Given the description of an element on the screen output the (x, y) to click on. 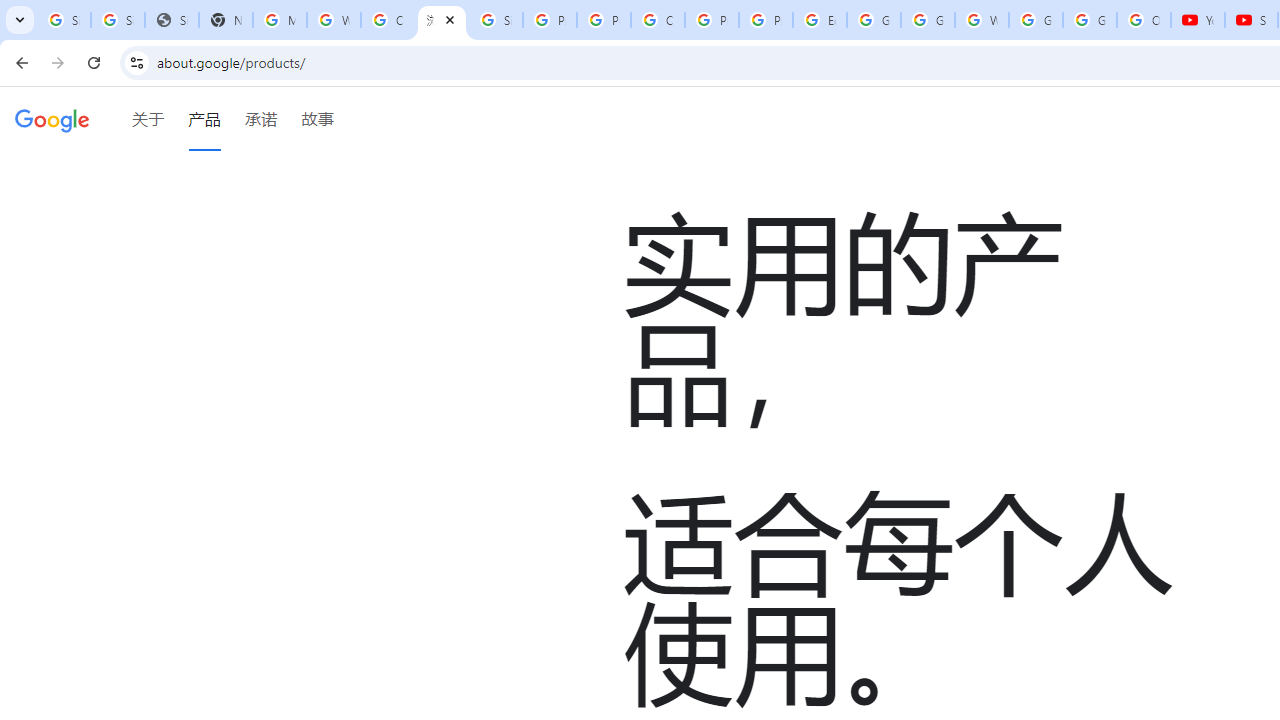
New Tab (225, 20)
Who is my administrator? - Google Account Help (333, 20)
Edit and view right-to-left text - Google Docs Editors Help (819, 20)
